Given the description of an element on the screen output the (x, y) to click on. 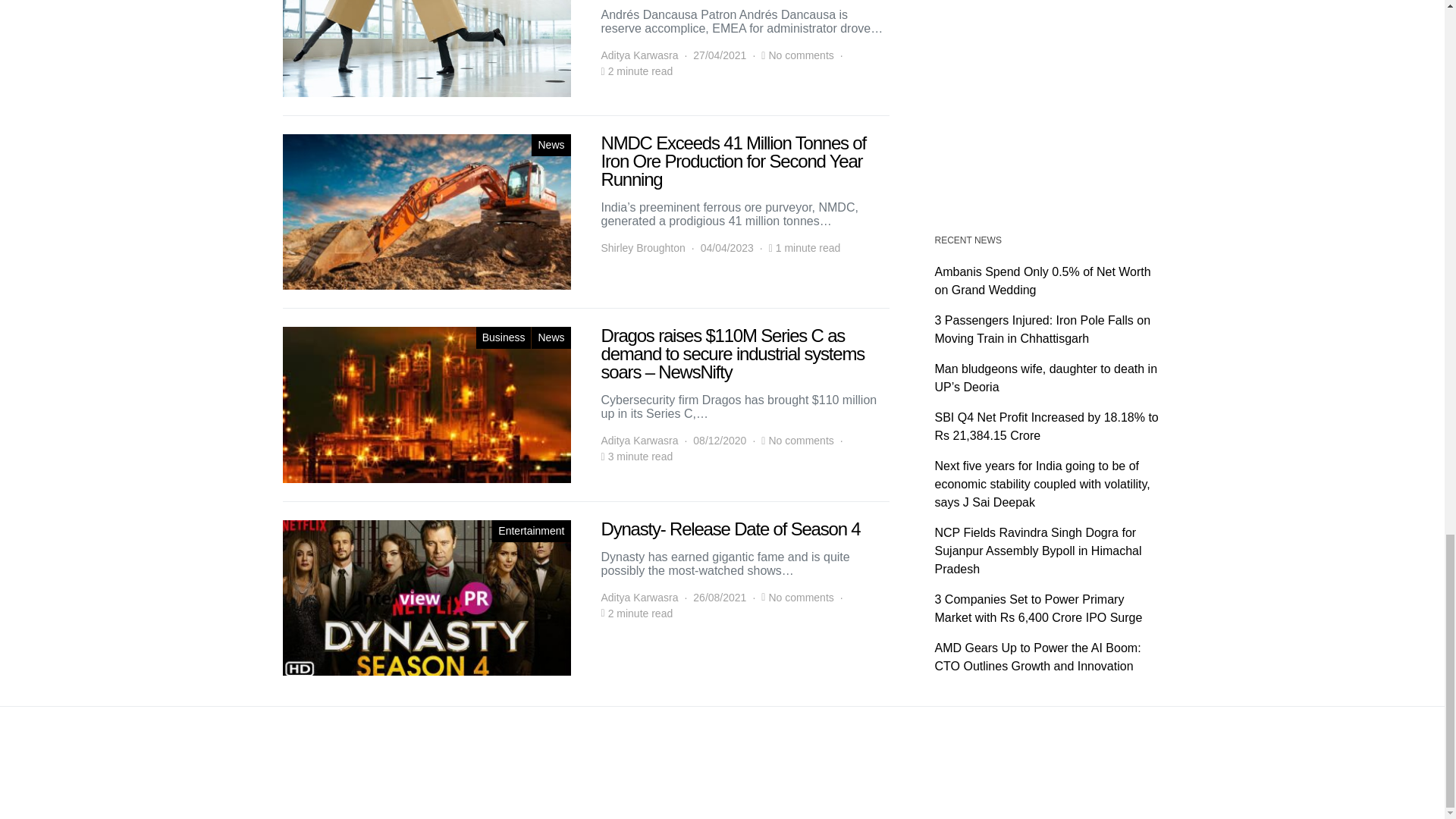
Dynasty- Release Date of Season 4 7 (426, 597)
View all posts by Aditya Karwasra (638, 55)
View all posts by Shirley Broughton (641, 248)
View all posts by Aditya Karwasra (638, 440)
View all posts by Aditya Karwasra (638, 597)
